Given the description of an element on the screen output the (x, y) to click on. 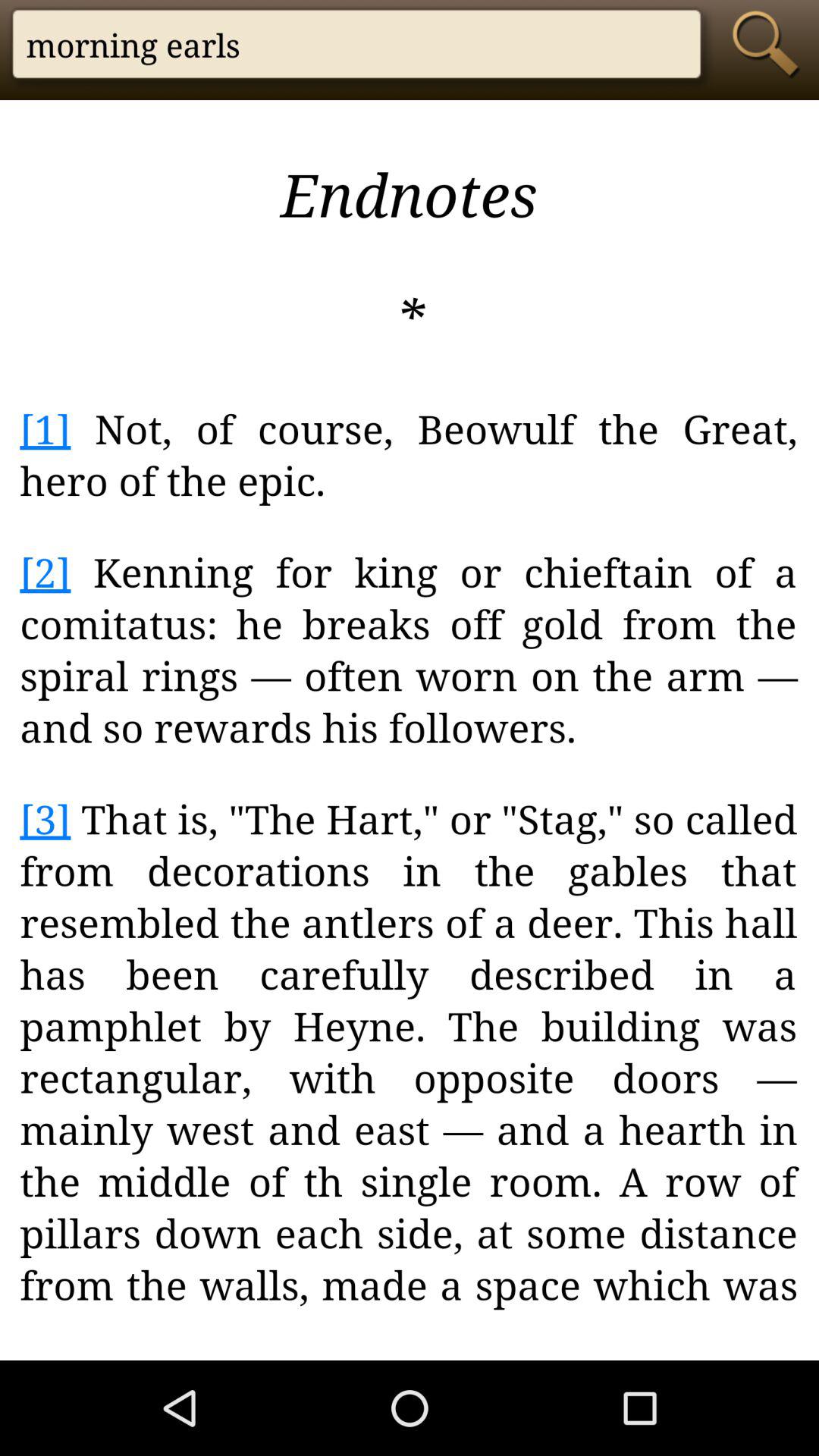
search notes (770, 43)
